Given the description of an element on the screen output the (x, y) to click on. 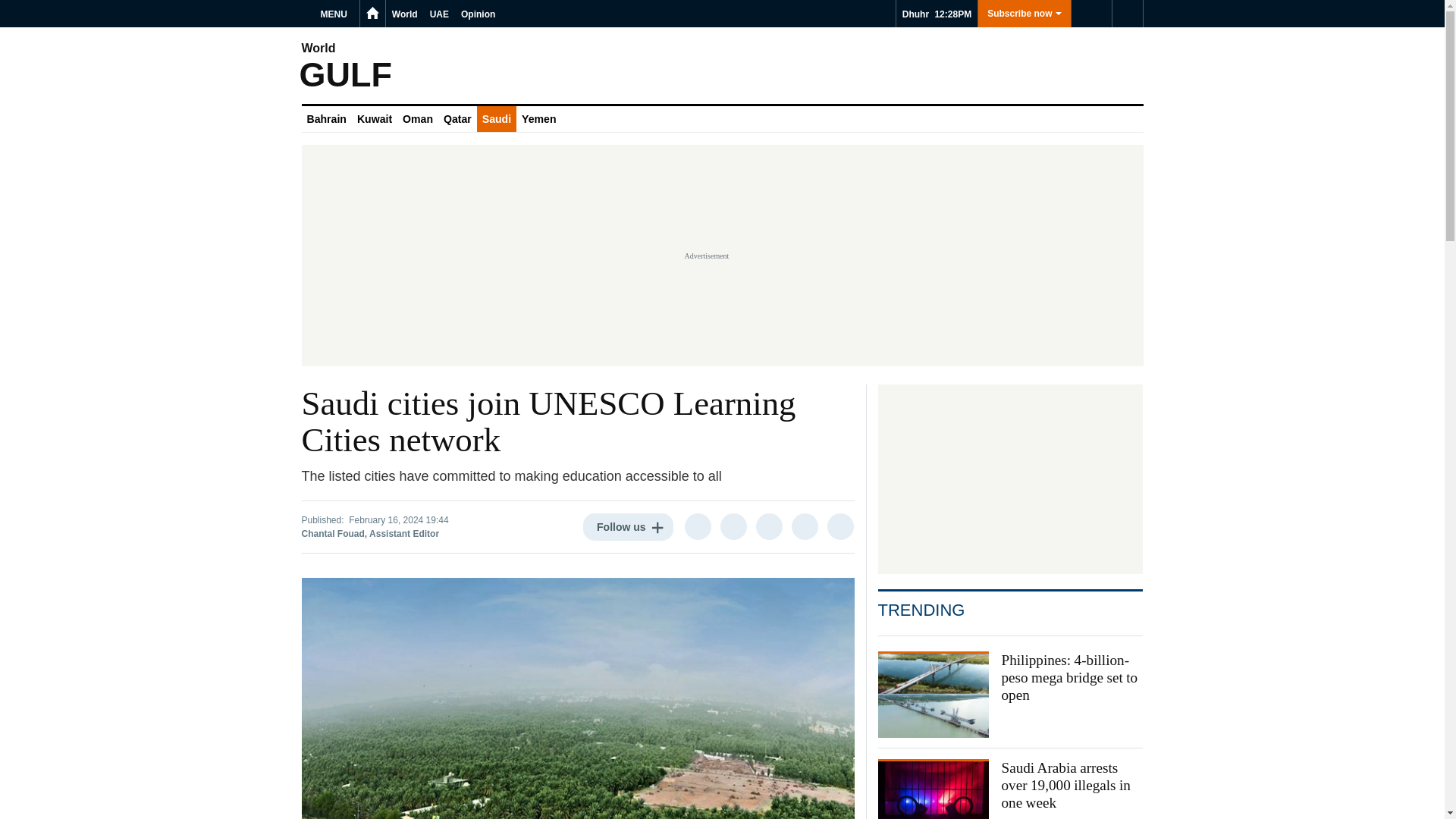
UAE (438, 13)
Dhuhr 12:28PM (936, 13)
Subscribe now (1024, 13)
MENU (336, 13)
Opinion (477, 13)
World (404, 13)
